Given the description of an element on the screen output the (x, y) to click on. 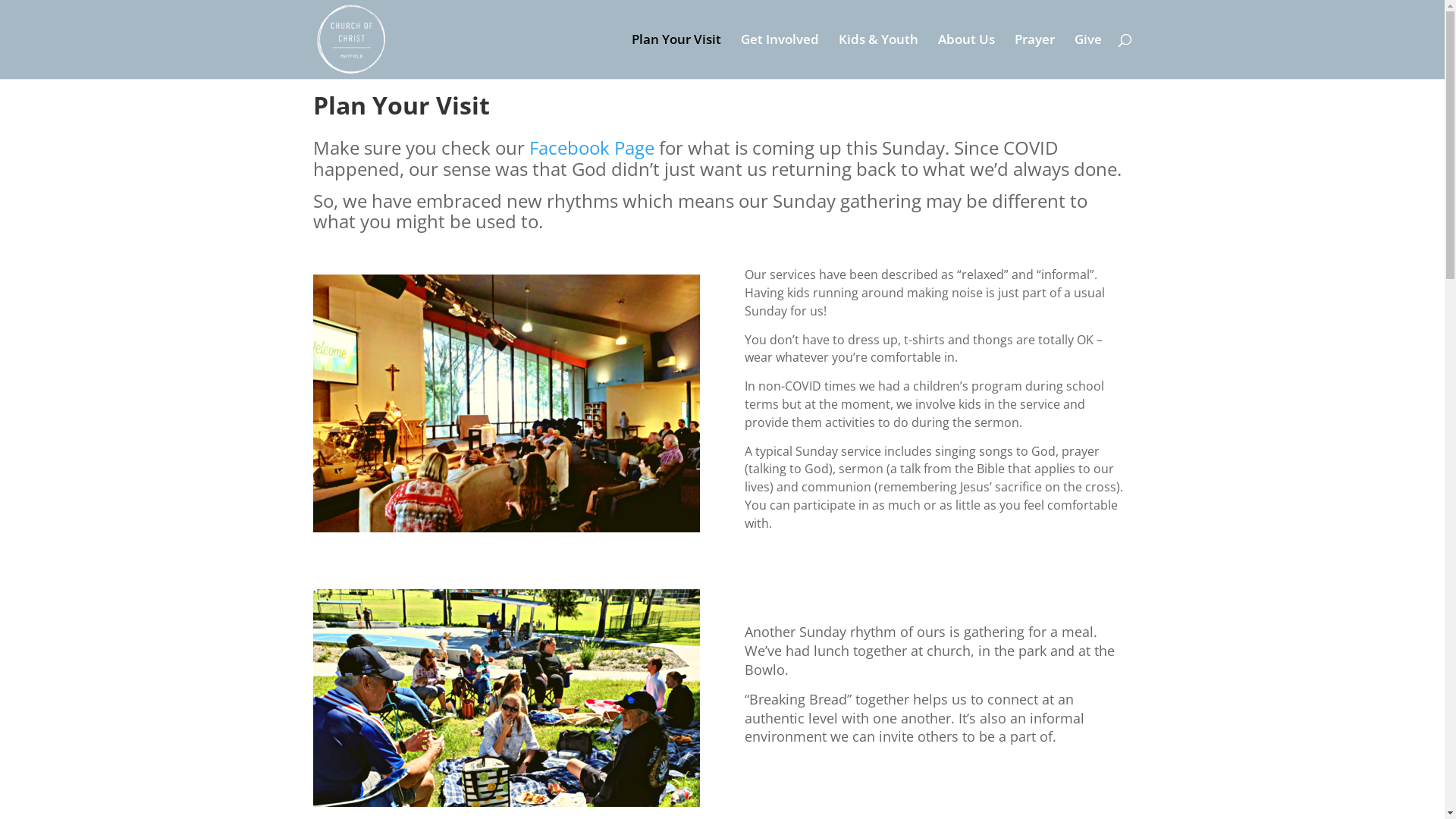
Kids & Youth Element type: text (878, 56)
Give Element type: text (1087, 56)
About Us Element type: text (965, 56)
Facebook Page Element type: text (591, 147)
Prayer Element type: text (1034, 56)
church picnic Element type: hover (505, 697)
Plan Your Visit Element type: text (675, 56)
worship service slider Element type: hover (505, 403)
Get Involved Element type: text (779, 56)
